Given the description of an element on the screen output the (x, y) to click on. 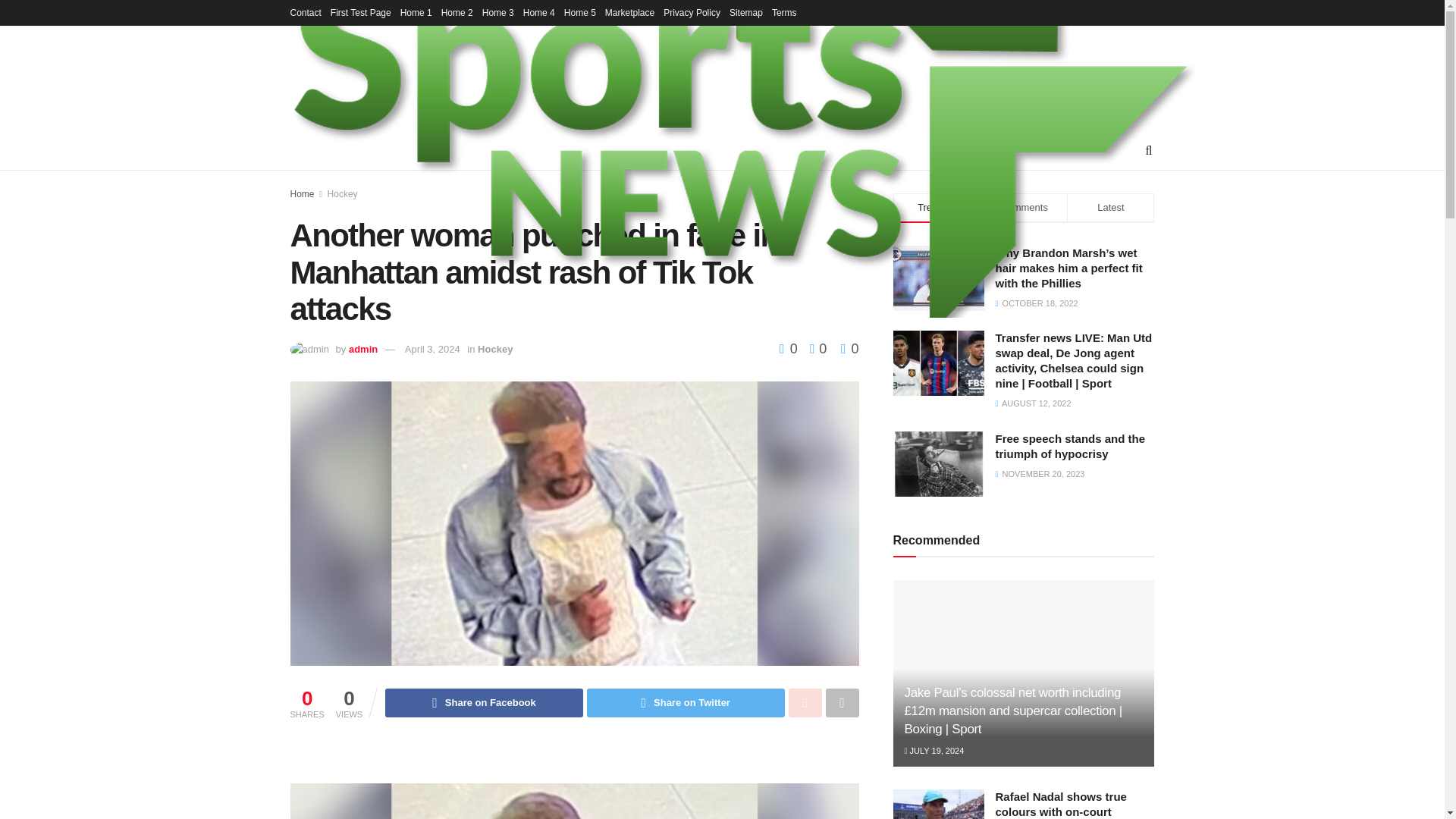
Home 4 (538, 12)
Home 1 (416, 12)
Marketplace (629, 12)
Privacy Policy (691, 12)
Terms (783, 12)
Home 3 (497, 12)
Sitemap (745, 12)
Contact (304, 12)
First Test Page (360, 12)
Home 5 (579, 12)
Home 2 (457, 12)
